Given the description of an element on the screen output the (x, y) to click on. 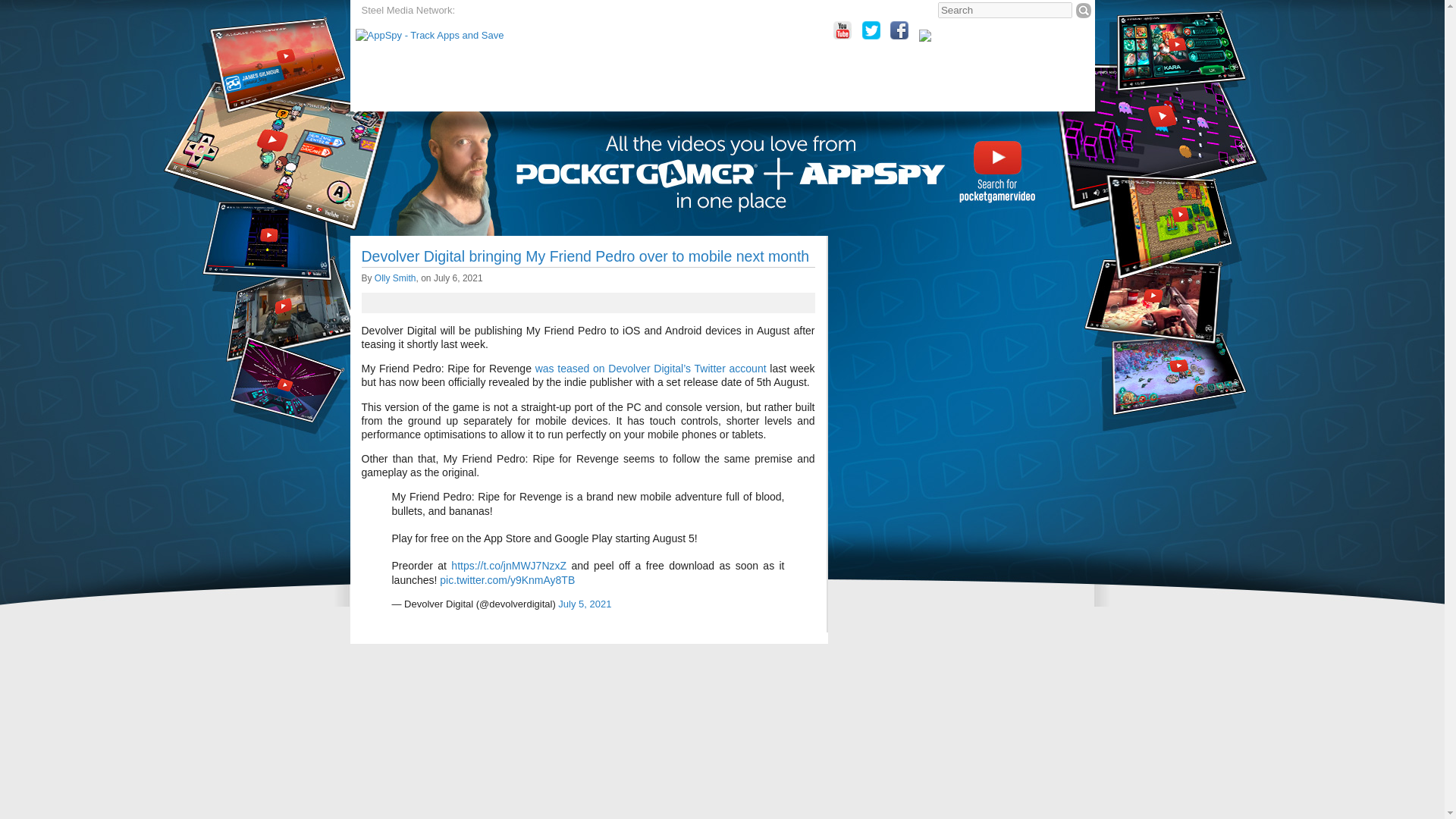
Apps On Sale (556, 129)
Pocket Gamer (489, 10)
AppSpy - Track Apps and Save (429, 35)
Top Rated Apps (464, 129)
148Apps (544, 10)
Subscribe to our RSS feeds (985, 36)
News and Updates (698, 129)
Find us on Facebook (898, 30)
Visit our YouTube channel (841, 30)
iPhone Qualityindex (613, 10)
AppSpy Home (390, 129)
